Given the description of an element on the screen output the (x, y) to click on. 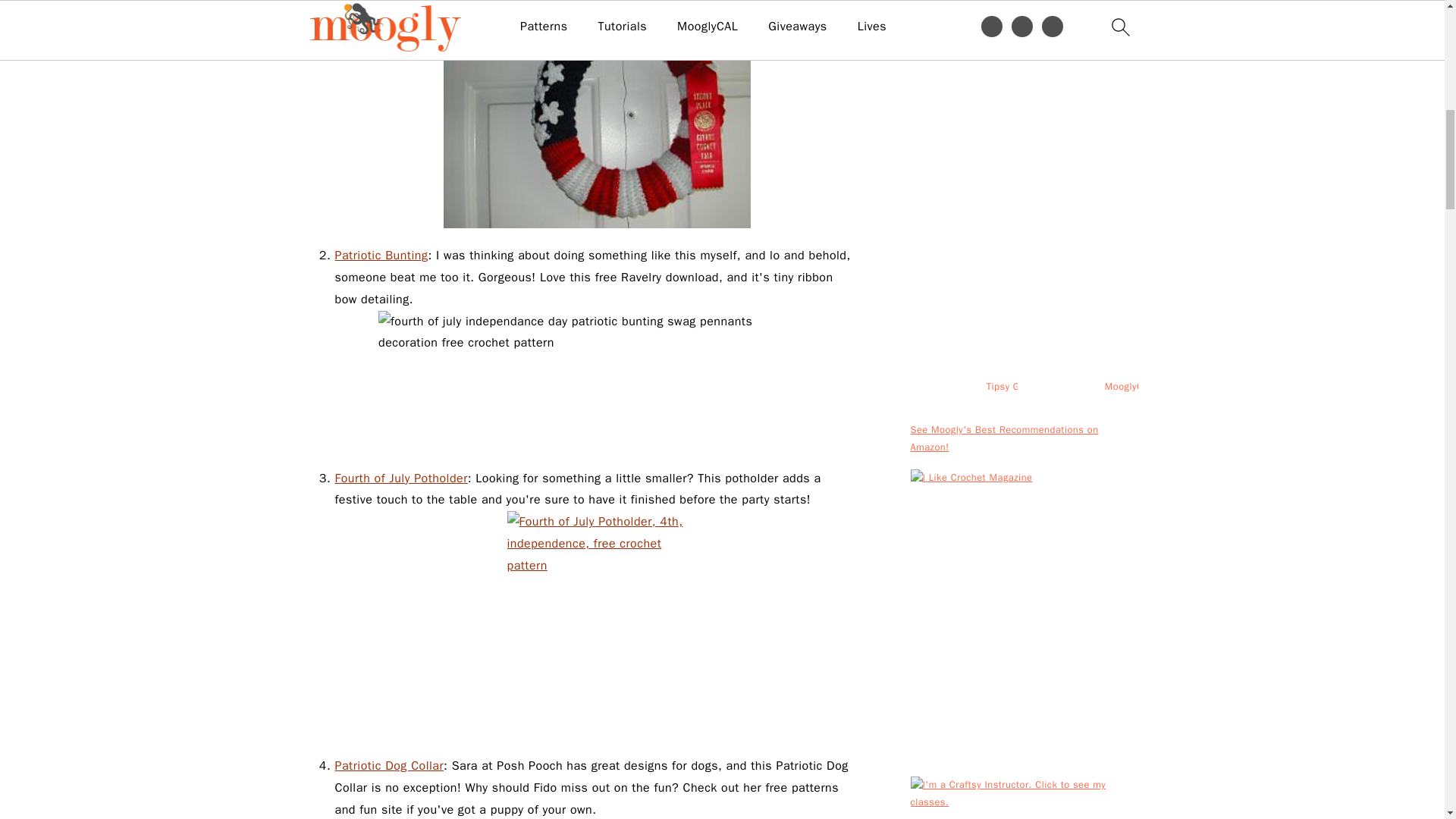
Fourth of July Potholder (400, 478)
Patriotic Bunting (596, 381)
Patriotic Bunting - Free Ravelry Download (381, 255)
Patriotic Dog Collar - Free Pattern (389, 765)
Patriotic Wreath (595, 114)
Fourth of July Potholder - Free Archived Pattern (400, 478)
Patriotic Bunting (381, 255)
